Given the description of an element on the screen output the (x, y) to click on. 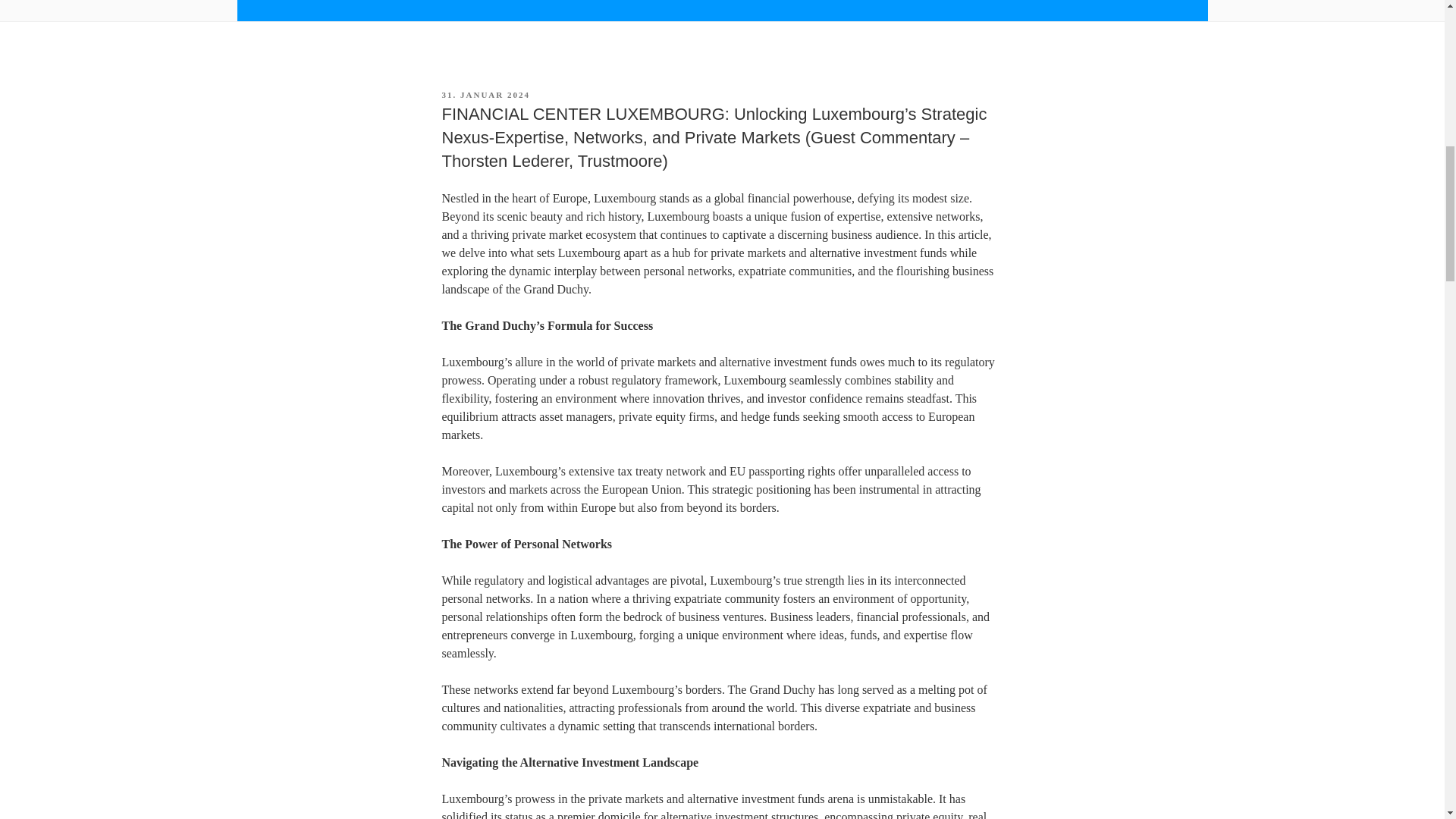
31. JANUAR 2024 (485, 94)
